Given the description of an element on the screen output the (x, y) to click on. 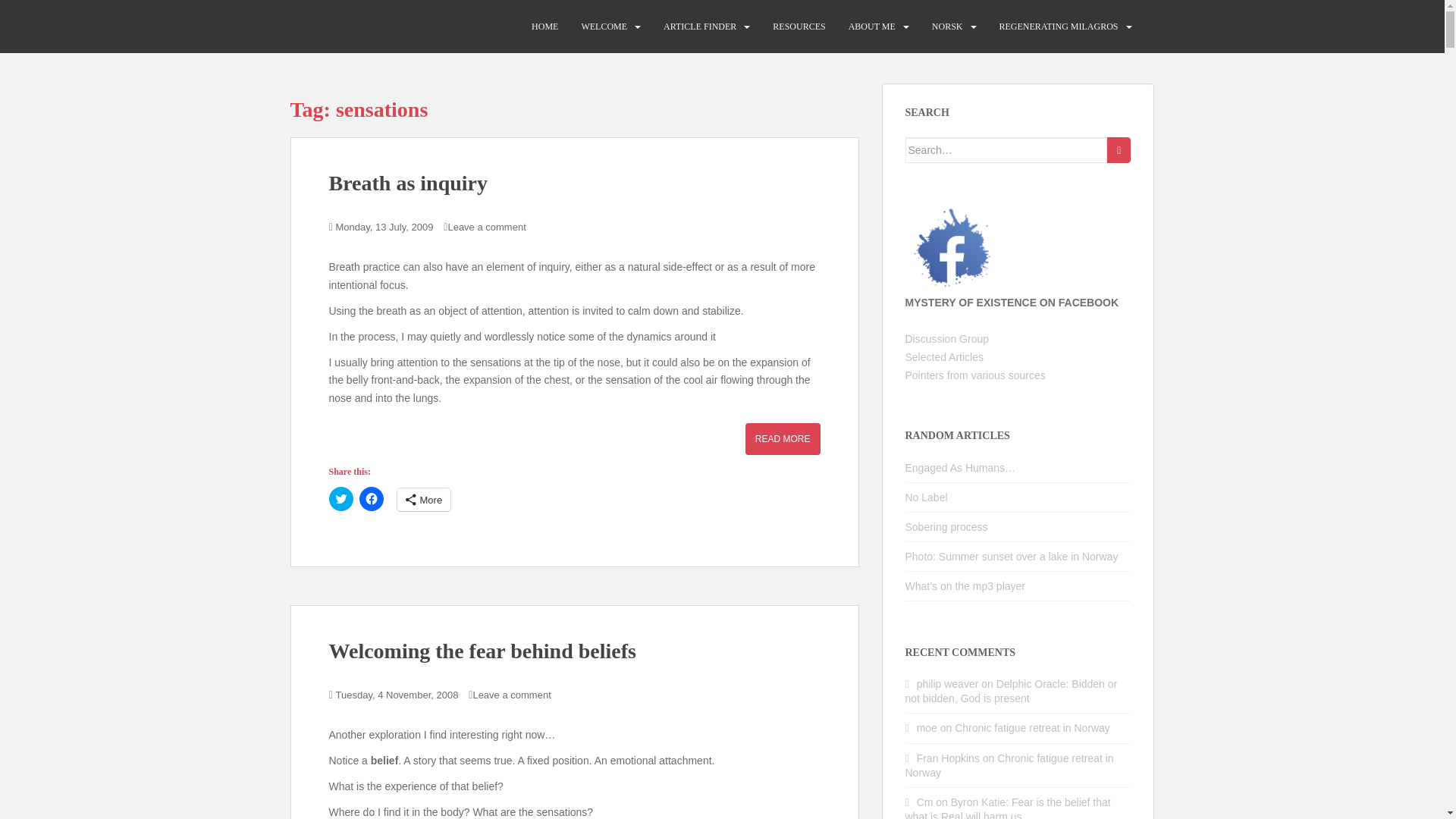
NORSK (946, 26)
REGENERATING MILAGROS (1058, 26)
Breath as inquiry (408, 182)
Leave a comment (485, 226)
Click to share on Twitter (341, 498)
Mystery of Existence (368, 26)
Monday, 13 July, 2009 (384, 226)
WELCOME (603, 26)
Click to share on Facebook (371, 498)
READ MORE (783, 439)
